Given the description of an element on the screen output the (x, y) to click on. 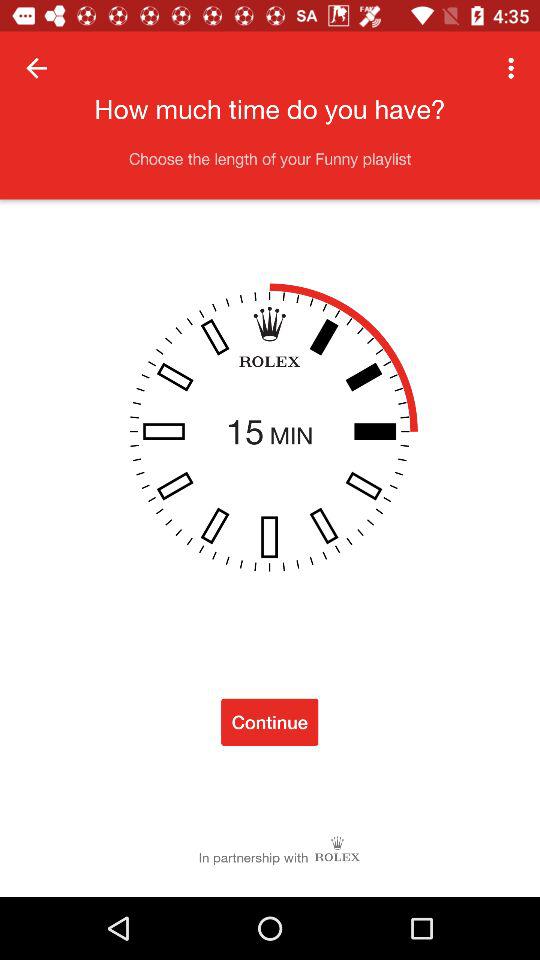
tap the icon above the choose the length (513, 67)
